Given the description of an element on the screen output the (x, y) to click on. 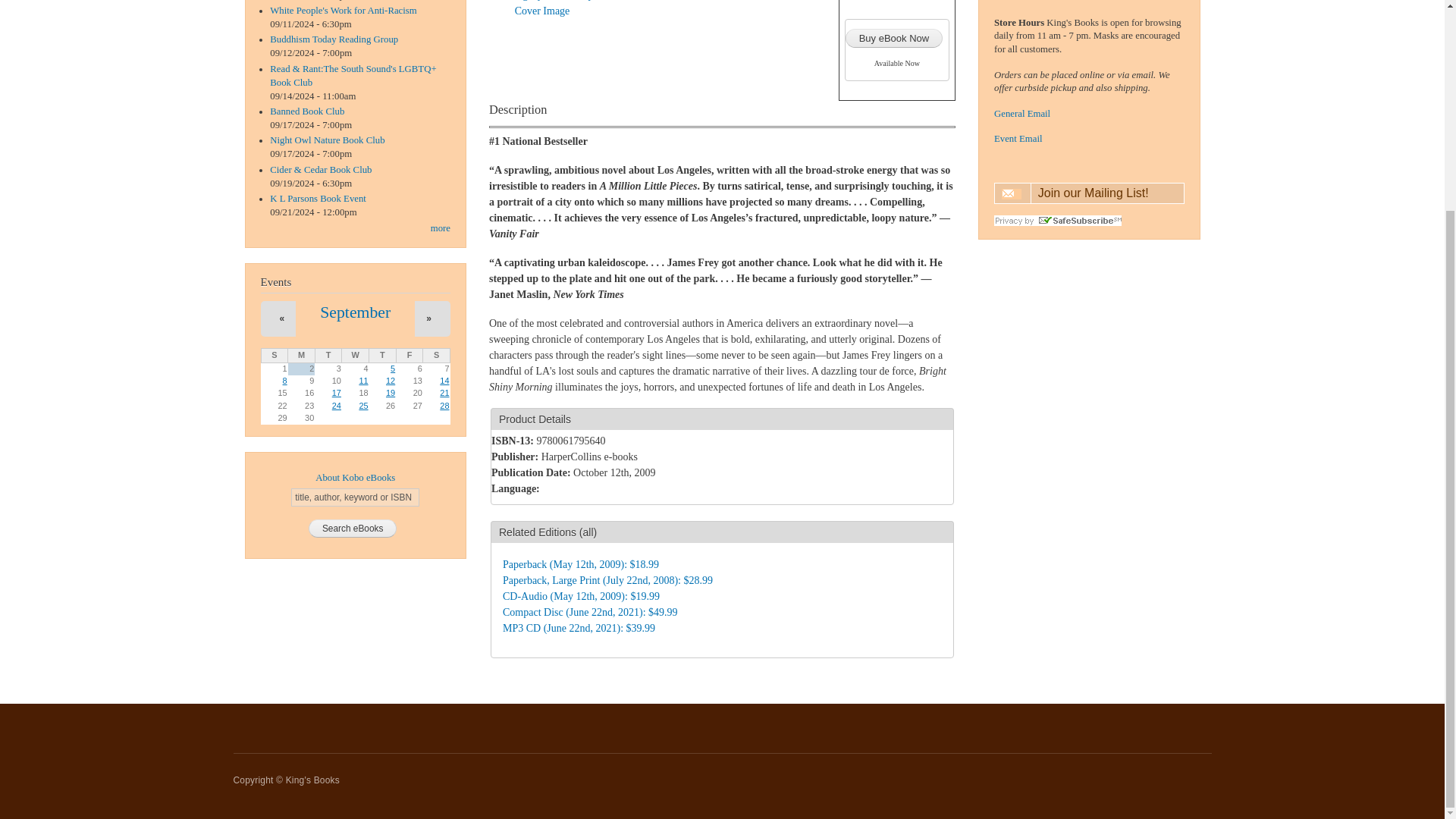
title, author, keyword or ISBN (355, 497)
Buy eBook Now (894, 37)
Navigate to previous month (282, 318)
King's Books Query (1021, 113)
Navigate to next month (428, 318)
Enter title, author, keyword or ISBN. (355, 497)
Buy eBook Now (894, 37)
Search eBooks (352, 528)
View full page month (355, 312)
Event Inquiry (1018, 138)
